Given the description of an element on the screen output the (x, y) to click on. 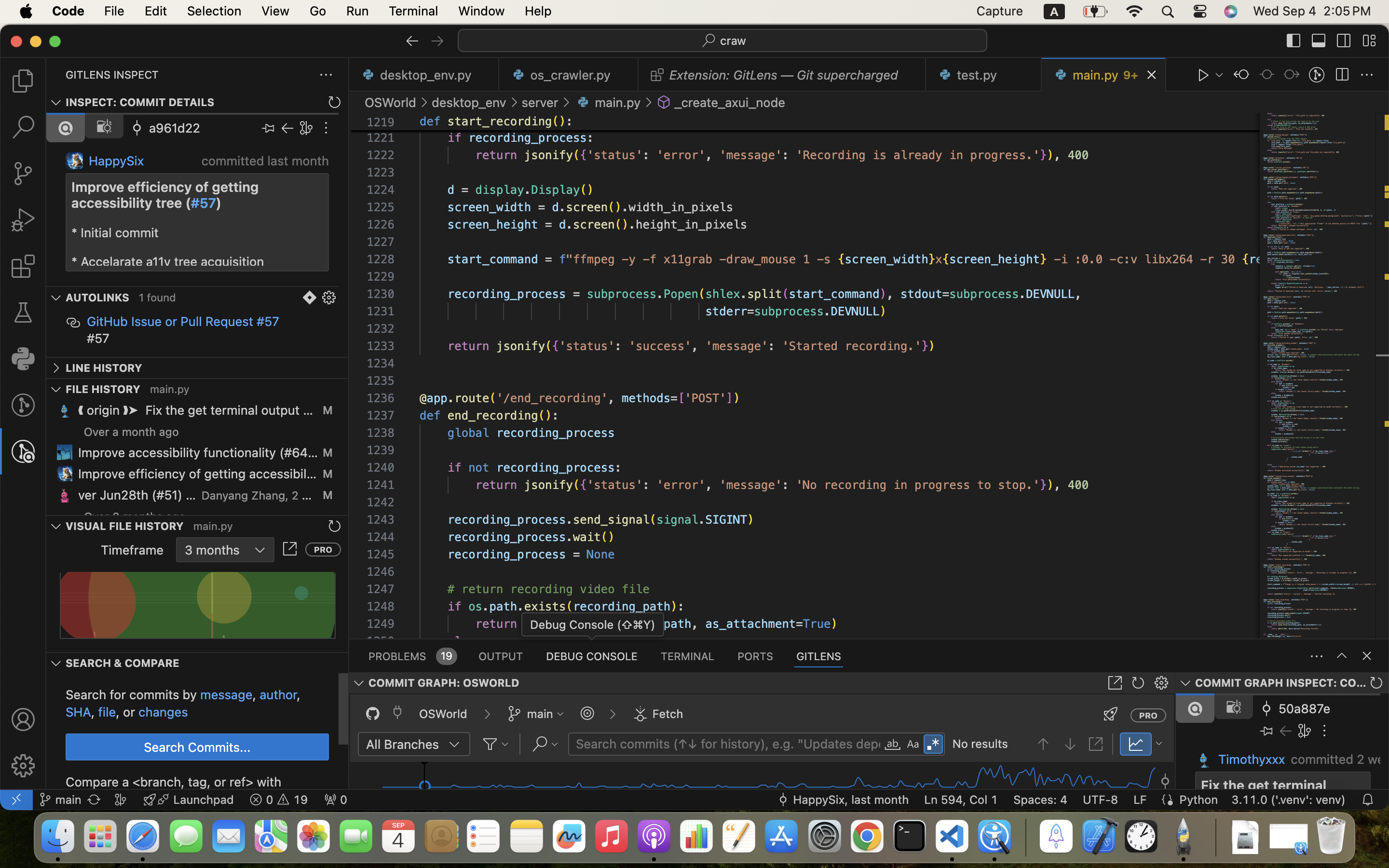
 Element type: AXStaticText (587, 713)
Compare a <branch, tag, or ref> with another <branch, tag, or ref> Element type: AXStaticText (173, 781)
0 TERMINAL Element type: AXRadioButton (687, 655)
 Element type: AXStaticText (1316, 74)
Pro Element type: AXGroup (322, 549)
